Given the description of an element on the screen output the (x, y) to click on. 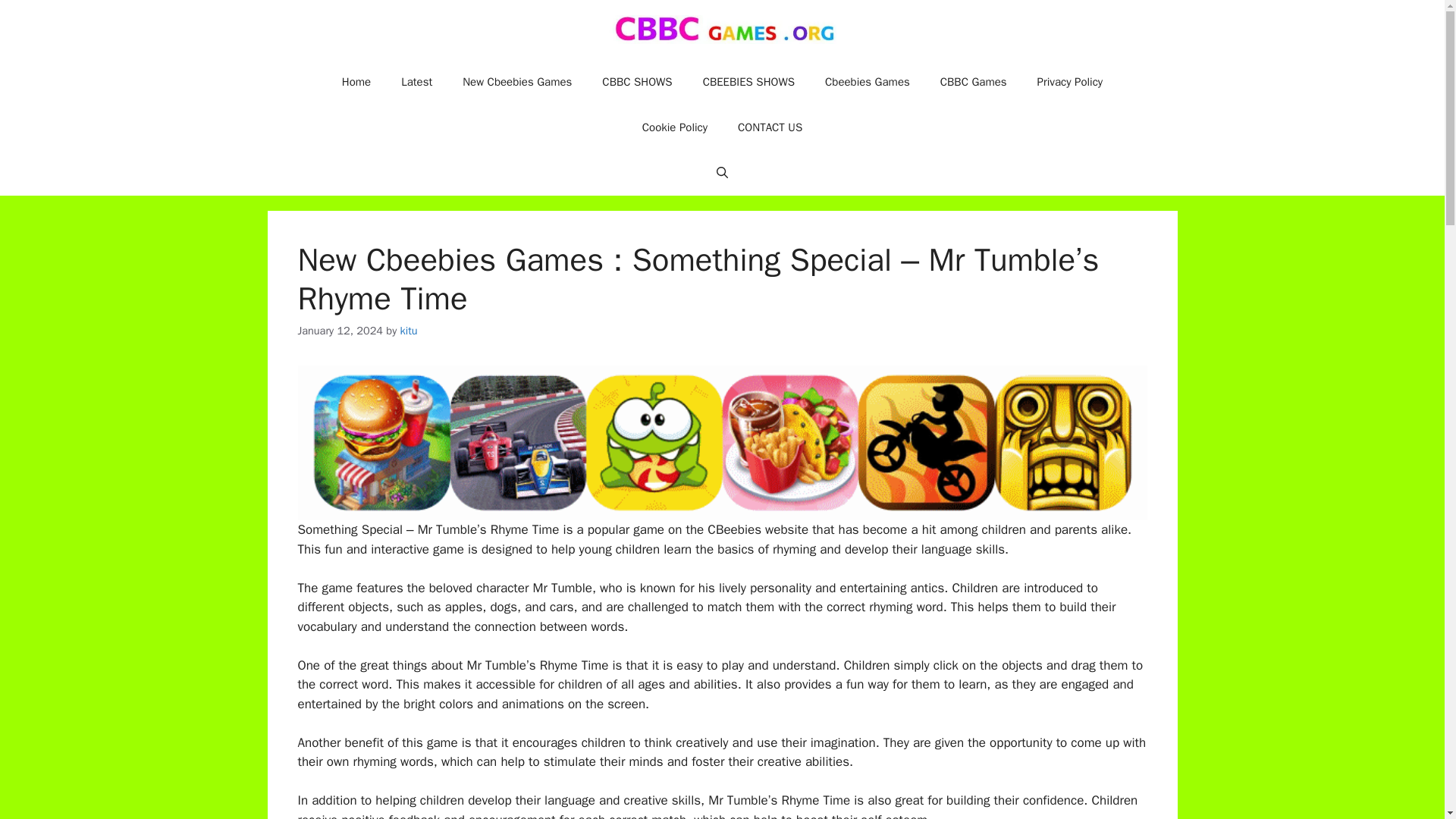
CBEEBIES SHOWS (748, 81)
CBBC SHOWS (636, 81)
Cbeebies Games (866, 81)
New Cbeebies Games (516, 81)
Cookie Policy (674, 126)
CONTACT US (769, 126)
Latest (415, 81)
kitu (408, 330)
Home (355, 81)
CBBC Games (973, 81)
